Given the description of an element on the screen output the (x, y) to click on. 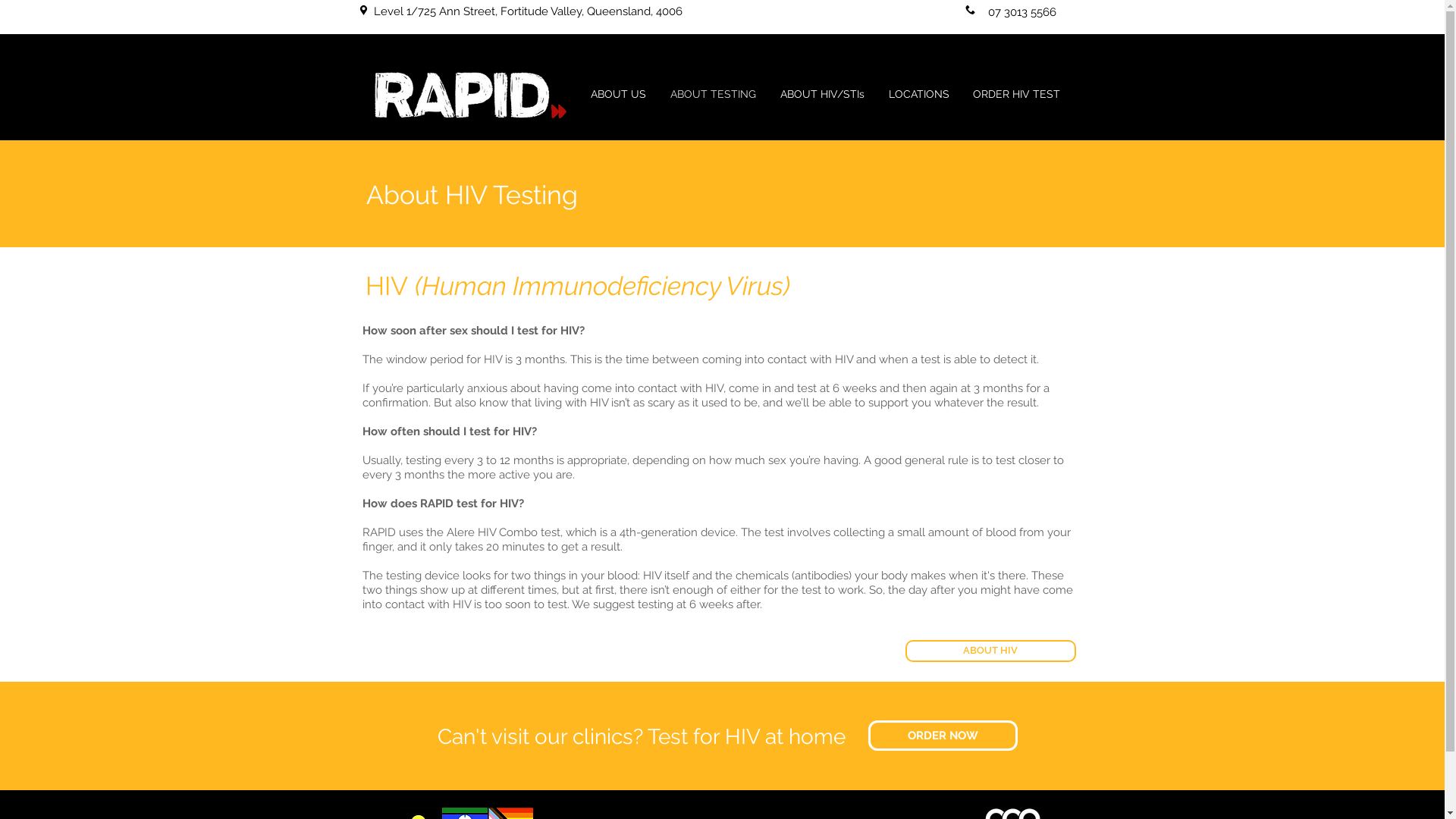
ABOUT HIV Element type: text (990, 651)
ORDER HIV TEST Element type: text (1016, 93)
LOCATIONS Element type: text (918, 93)
ORDER NOW Element type: text (941, 735)
ABOUT TESTING Element type: text (713, 93)
ABOUT HIV/STIs Element type: text (821, 93)
ABOUT US Element type: text (617, 93)
RAPID Element type: hover (463, 94)
